Given the description of an element on the screen output the (x, y) to click on. 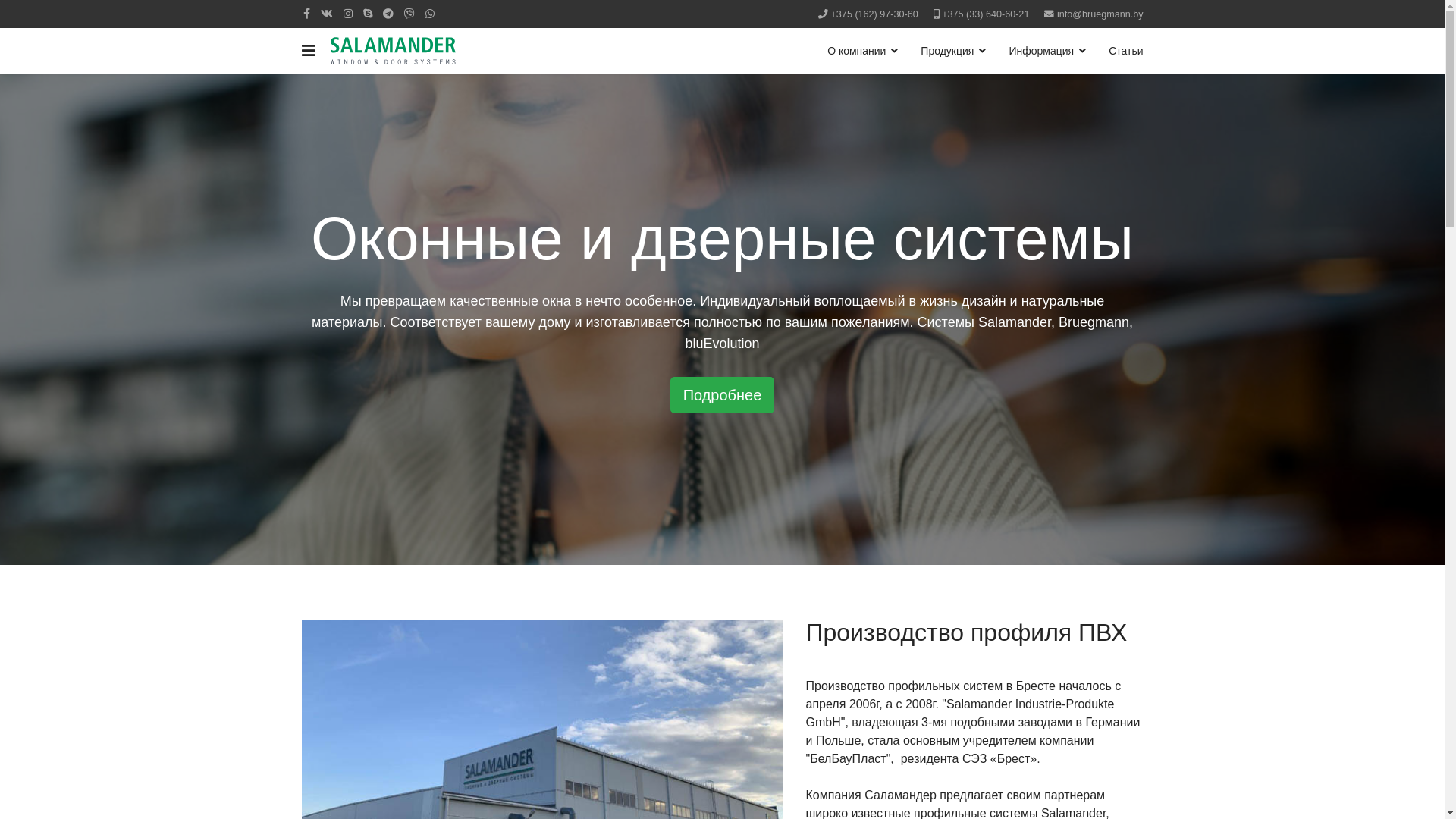
+375 (162) 97-30-60 Element type: text (874, 14)
Navigation Element type: hover (308, 50)
+375 (33) 640-60-21 Element type: text (985, 14)
info@bruegmann.by Element type: text (1100, 14)
